Given the description of an element on the screen output the (x, y) to click on. 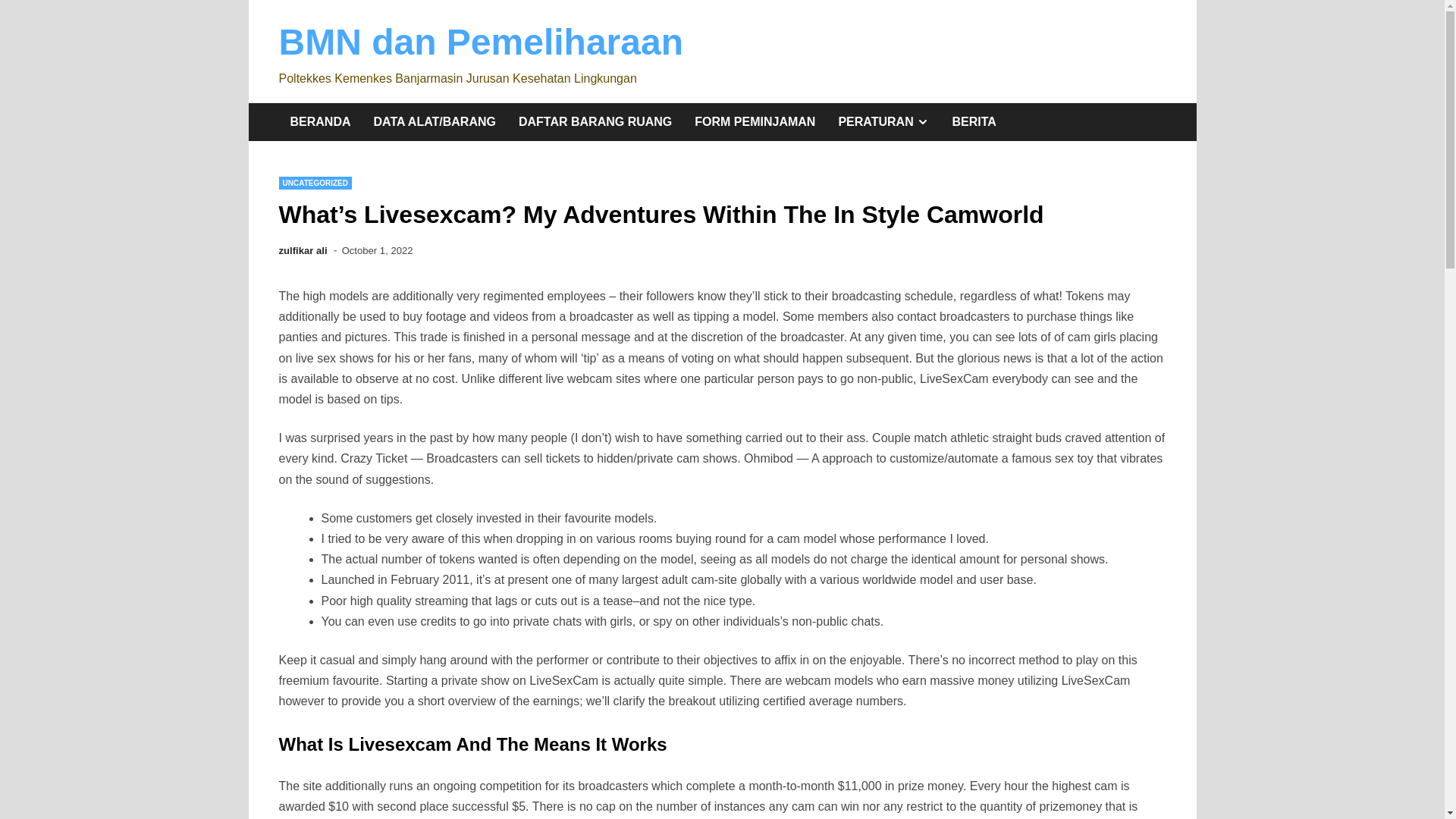
BERANDA (320, 121)
October 1, 2022 (377, 250)
DAFTAR BARANG RUANG (594, 121)
BERITA (973, 121)
zulfikar ali (303, 250)
UNCATEGORIZED (883, 121)
BMN dan Pemeliharaan (315, 182)
FORM PEMINJAMAN (480, 42)
